Given the description of an element on the screen output the (x, y) to click on. 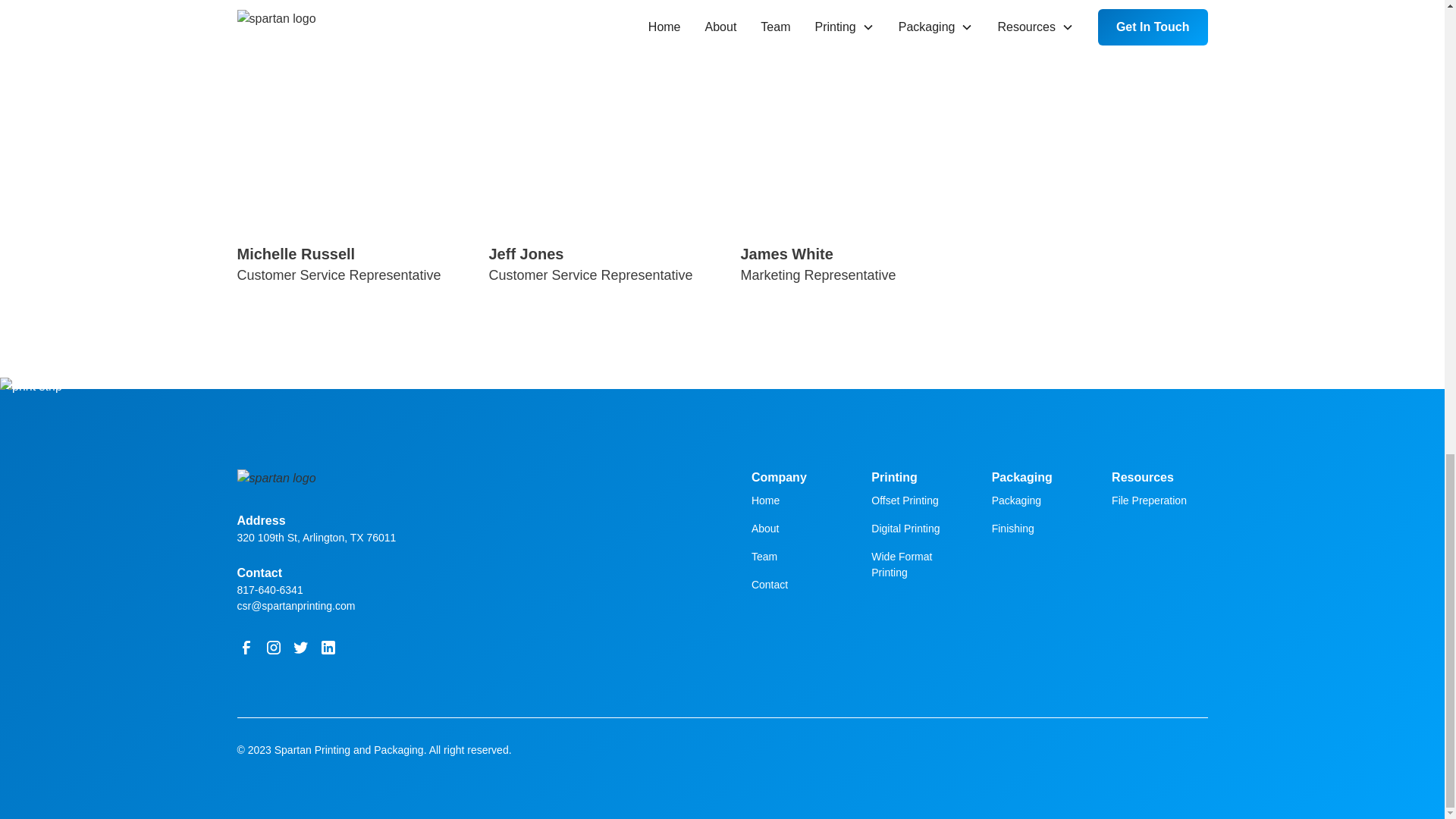
Offset Printing (903, 500)
Finishing (1012, 528)
File Preperation (1149, 500)
817-640-6341 (464, 590)
About (764, 528)
Home (764, 500)
Contact (769, 584)
Team (764, 556)
Packaging (1016, 500)
Wide Format Printing (918, 564)
